Given the description of an element on the screen output the (x, y) to click on. 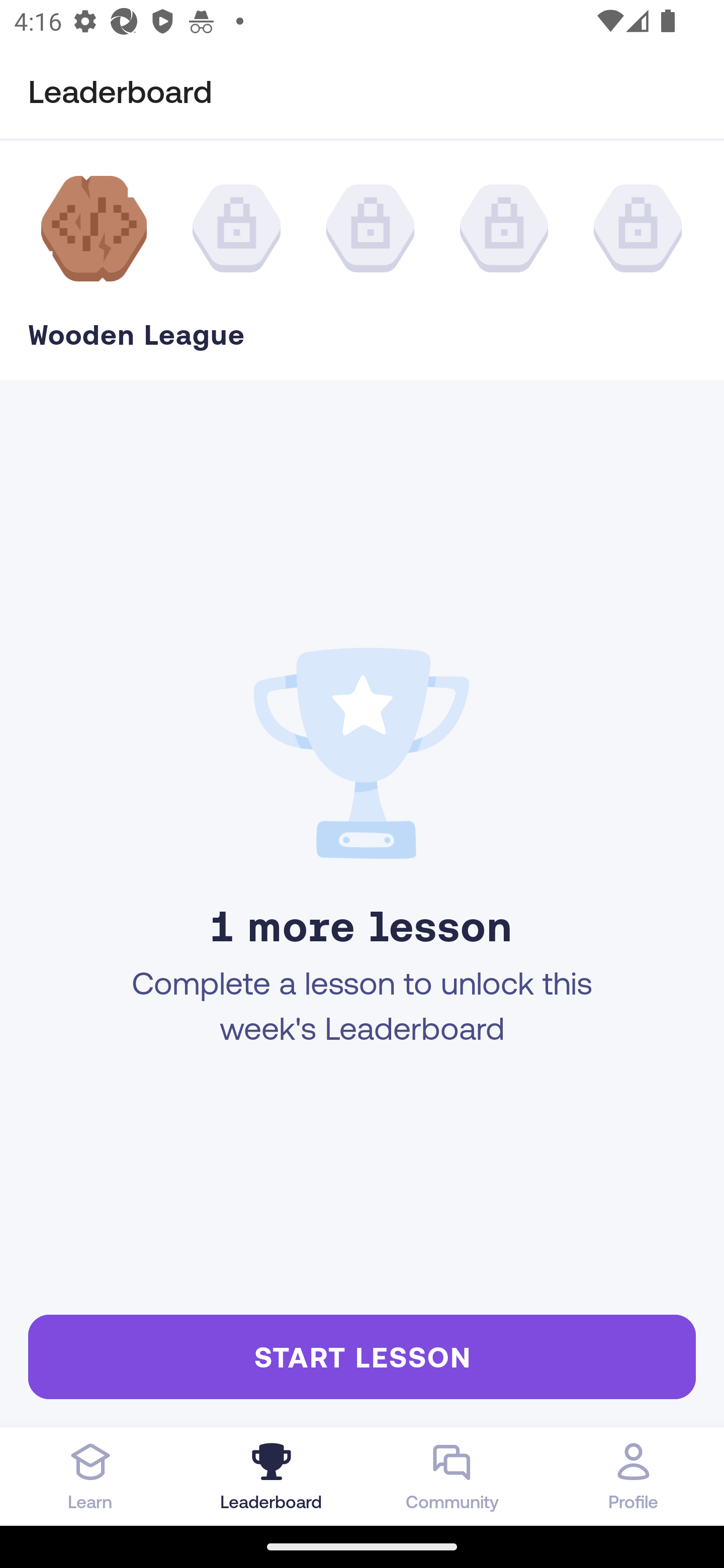
START LESSON (361, 1355)
Learn (90, 1475)
Community (452, 1475)
Profile (633, 1475)
